Given the description of an element on the screen output the (x, y) to click on. 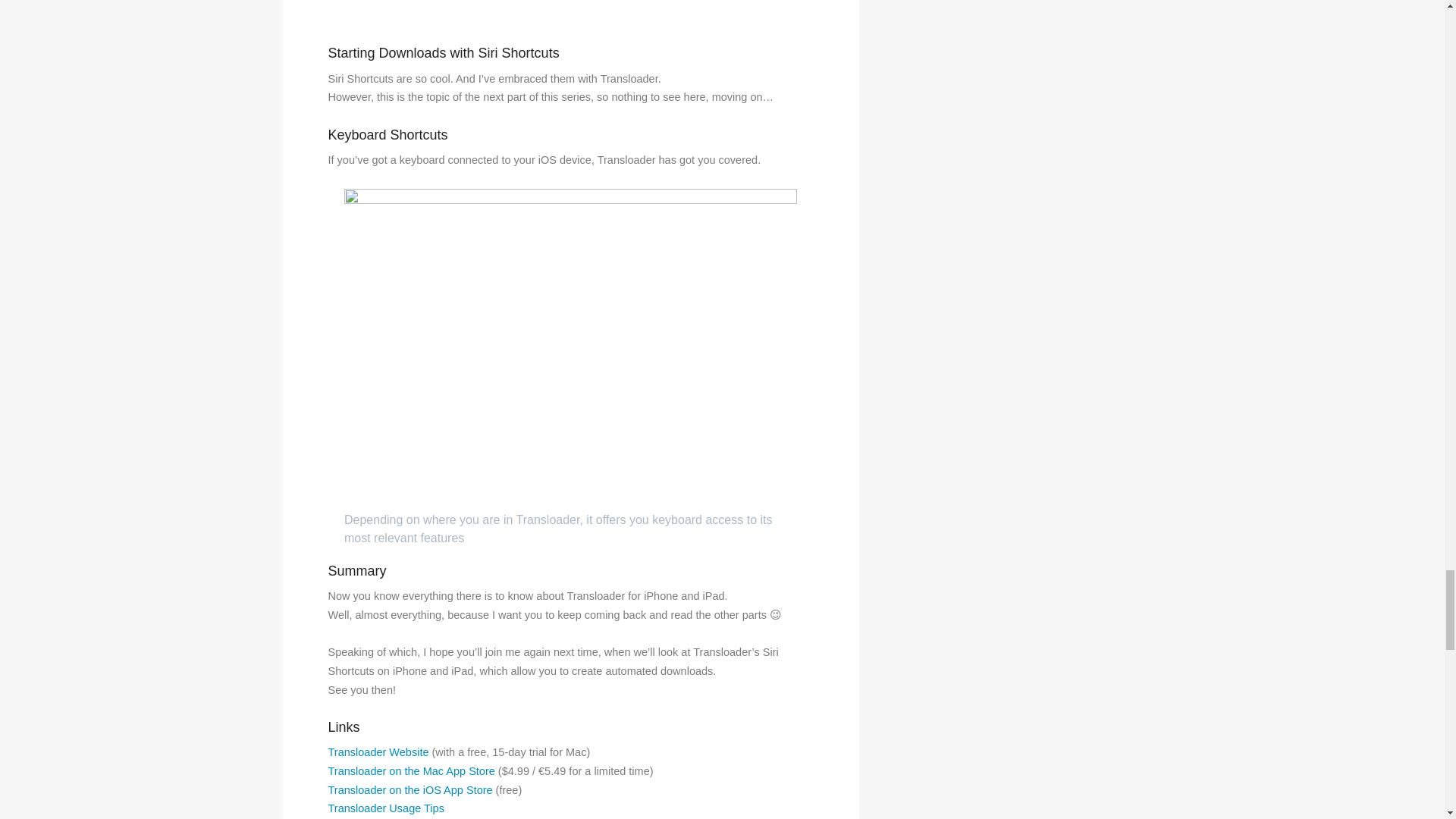
Transloader on the Mac App Store (411, 770)
Transloader Website (377, 752)
Transloader Usage Tips (385, 808)
Transloader on the iOS App Store (409, 789)
Transloader iOS Demo - Inter-app Drag and Drop (569, 13)
